Given the description of an element on the screen output the (x, y) to click on. 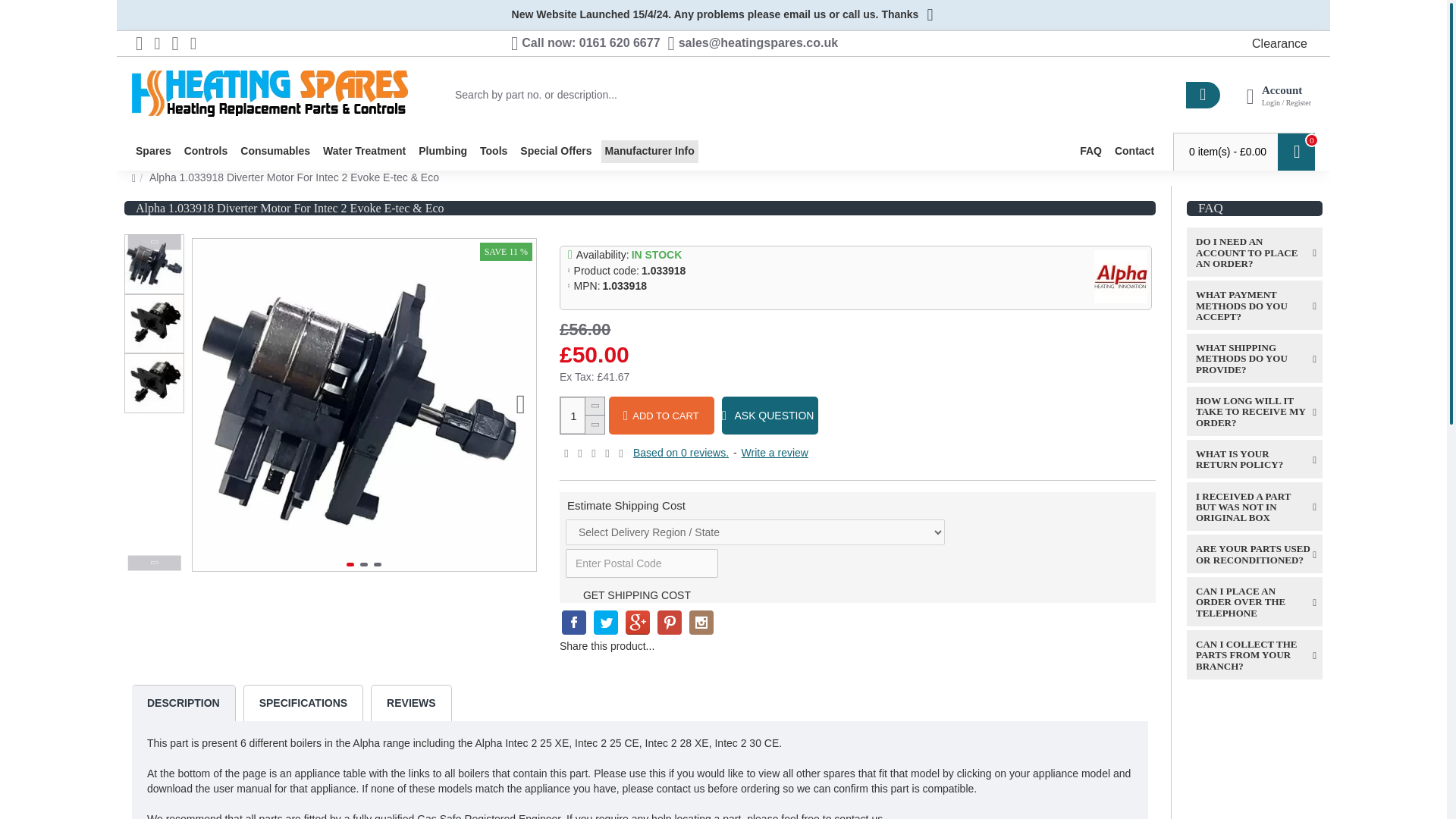
Spares (153, 151)
Call now: 0161 620 6677 (433, 43)
1 (582, 415)
Clearance (1279, 43)
Heating Spares Ltd (269, 94)
